Given the description of an element on the screen output the (x, y) to click on. 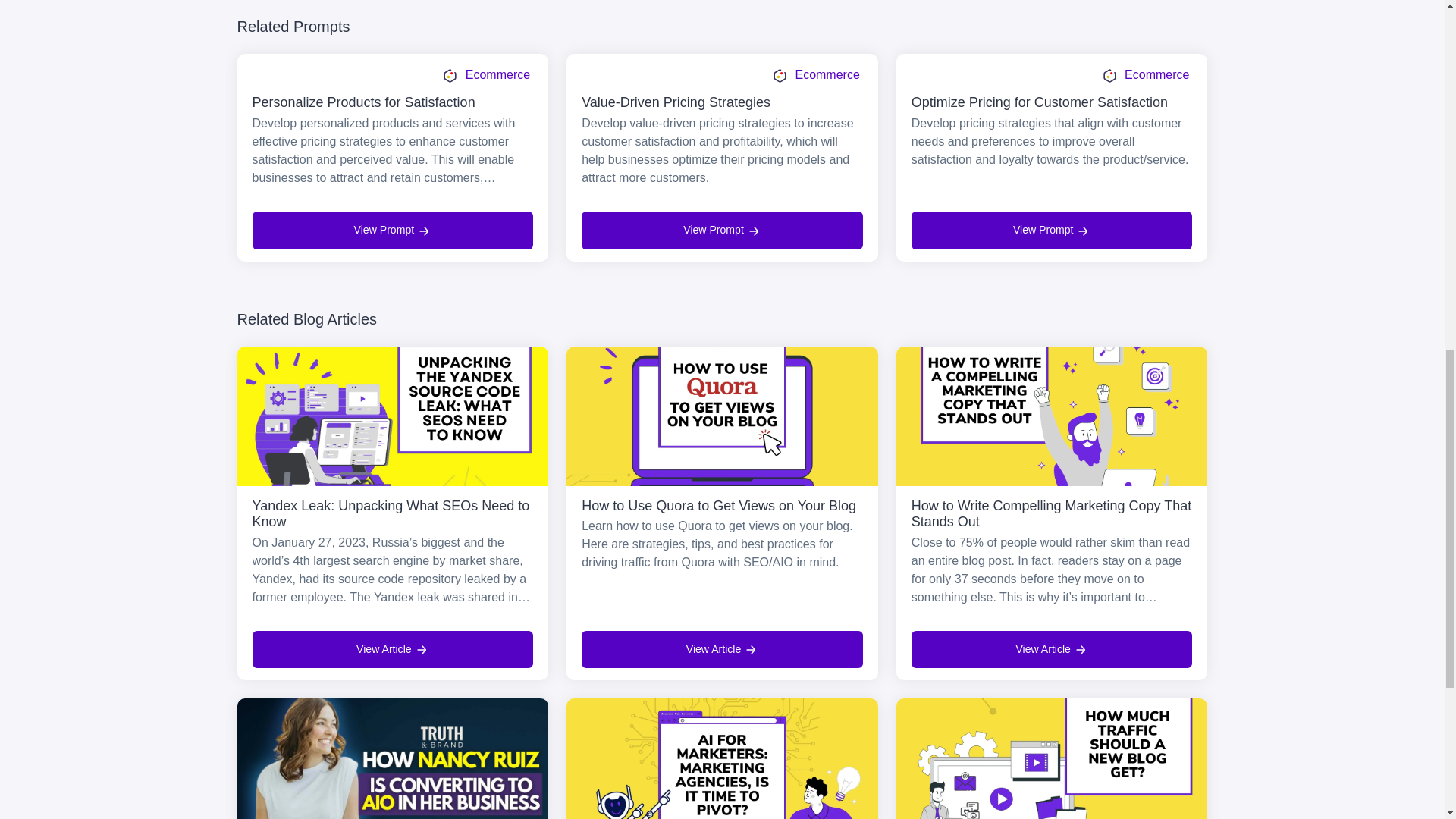
View Article (391, 649)
Ecommerce (1144, 75)
View Article (721, 649)
Ecommerce (485, 75)
View Prompt (1051, 229)
View Article (1051, 649)
View Prompt (391, 229)
Ecommerce (815, 75)
View Prompt (721, 229)
